Given the description of an element on the screen output the (x, y) to click on. 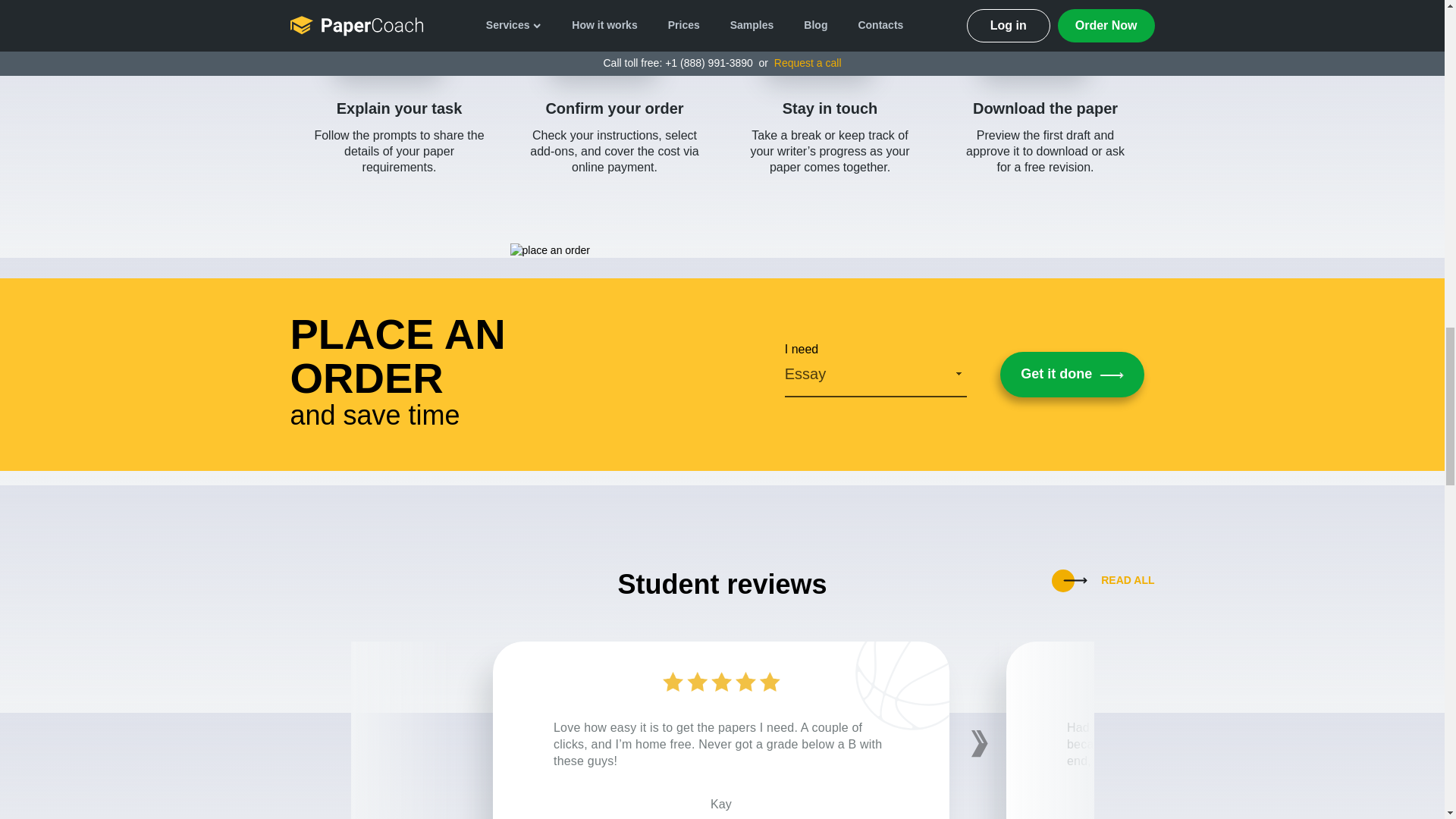
READ ALL (1102, 580)
Get it done (1072, 374)
